Given the description of an element on the screen output the (x, y) to click on. 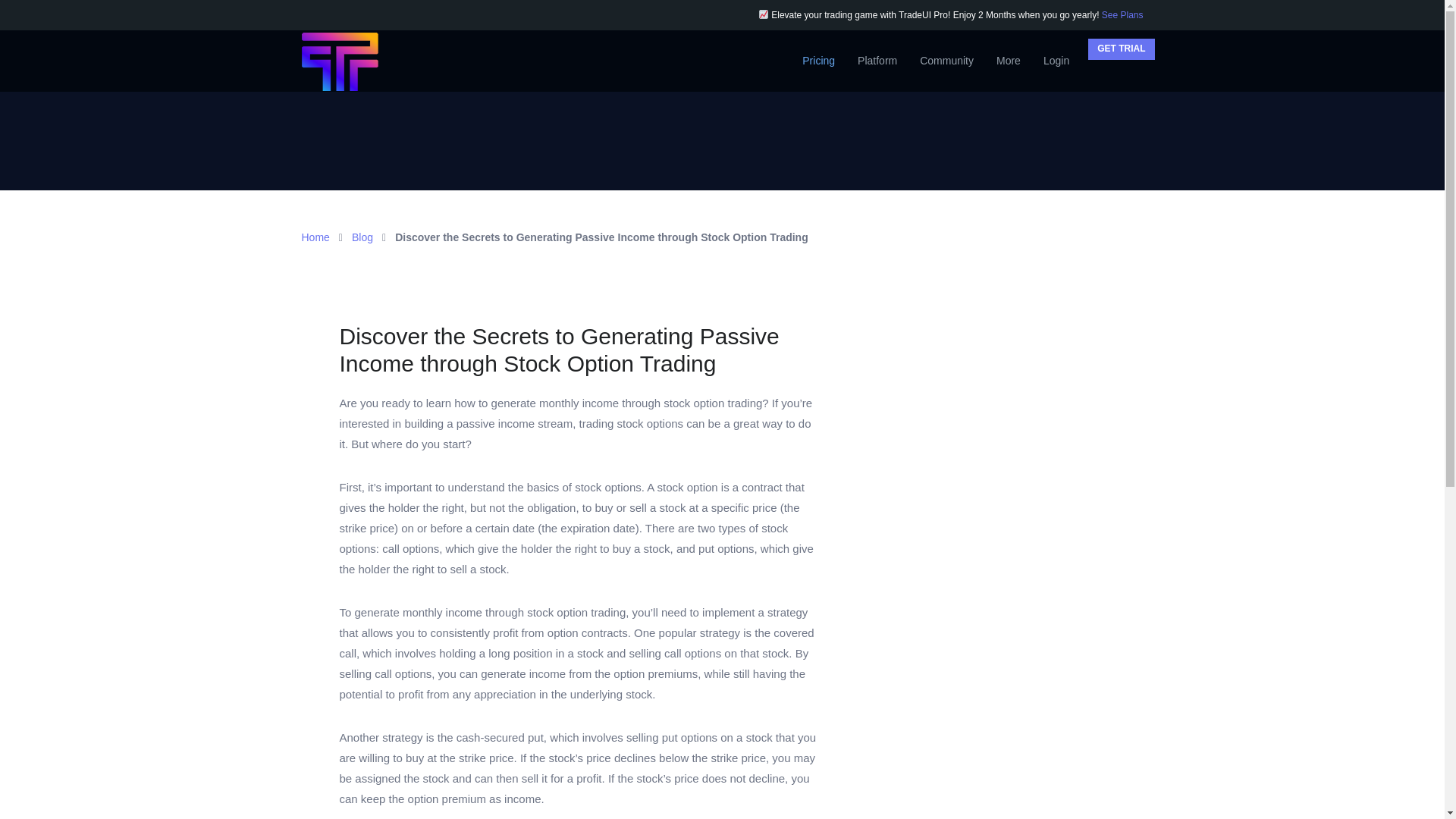
GET TRIAL (1120, 48)
Home (315, 236)
Pricing (817, 60)
See Plans (1122, 14)
Community (946, 60)
Platform (876, 60)
Platform (876, 60)
